Given the description of an element on the screen output the (x, y) to click on. 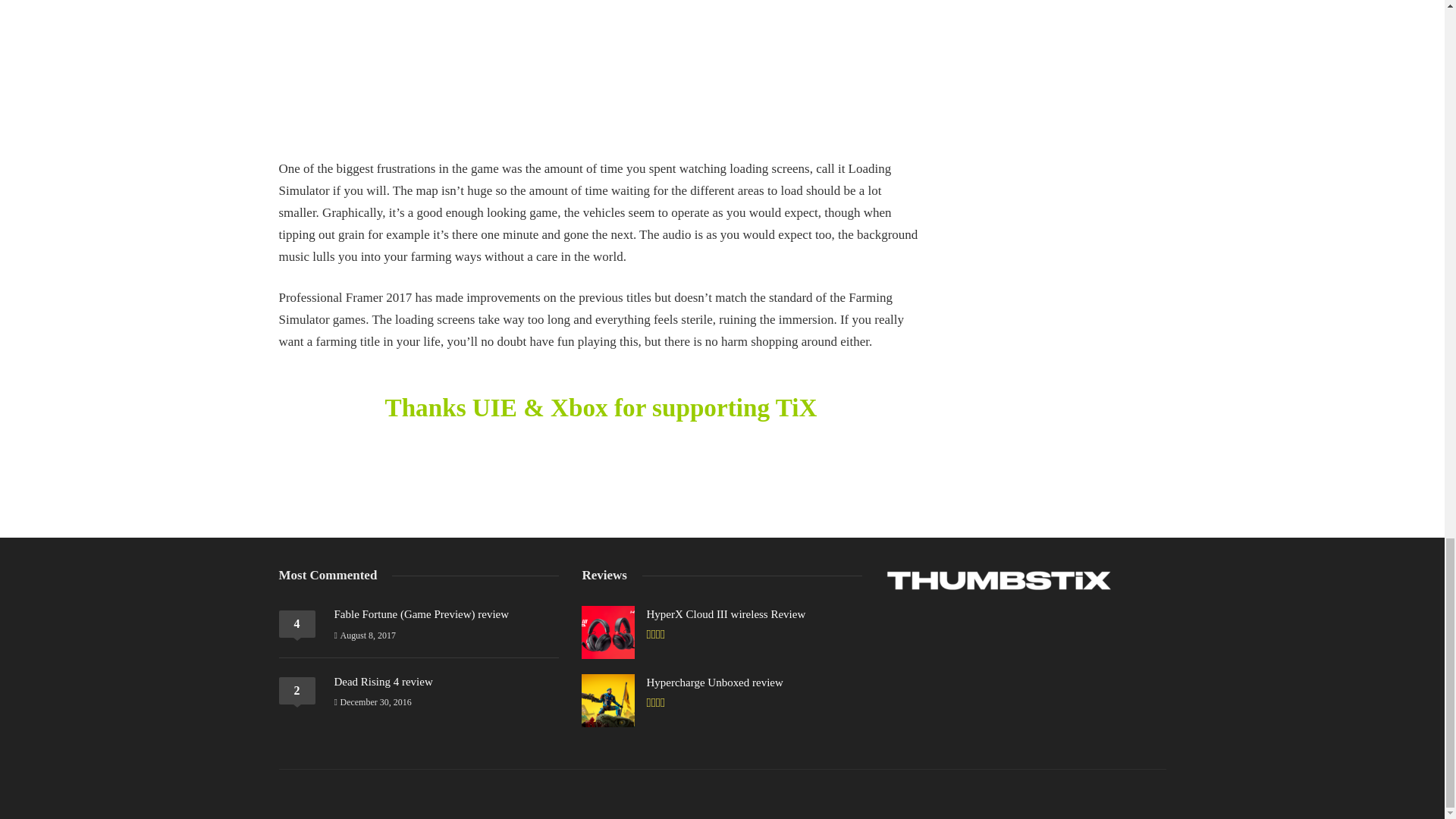
Hypercharge Unboxed review (714, 682)
4 Comments (297, 624)
2 (297, 690)
HyperX Cloud III wireless Review (725, 614)
4 (297, 624)
2 Comments (297, 690)
August 8, 2017 at 8:26 pm (364, 634)
December 30, 2016 at 8:06 pm (371, 701)
Dead Rising 4 review (382, 682)
